Given the description of an element on the screen output the (x, y) to click on. 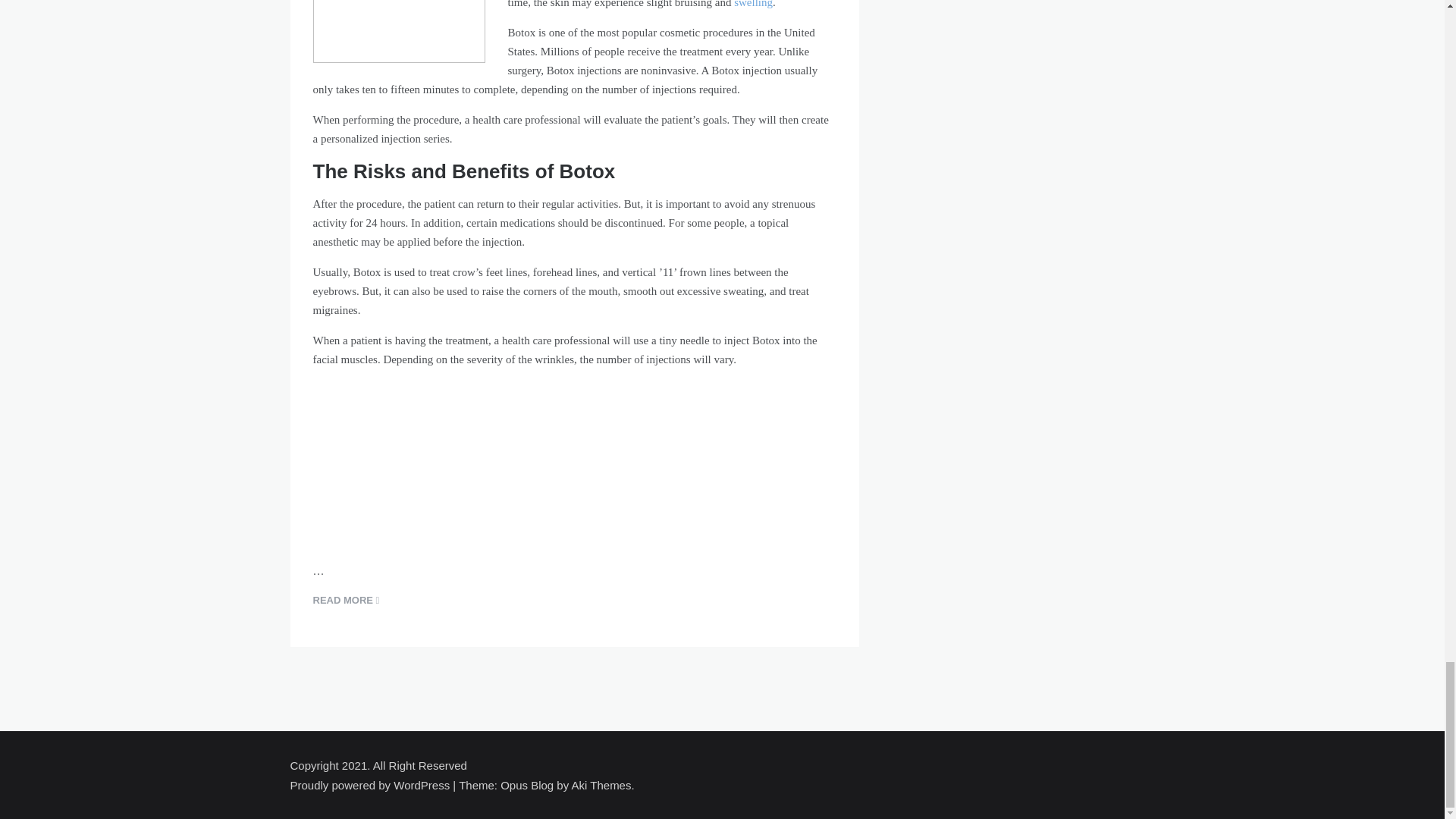
READ MORE (345, 600)
swelling (753, 4)
